Given the description of an element on the screen output the (x, y) to click on. 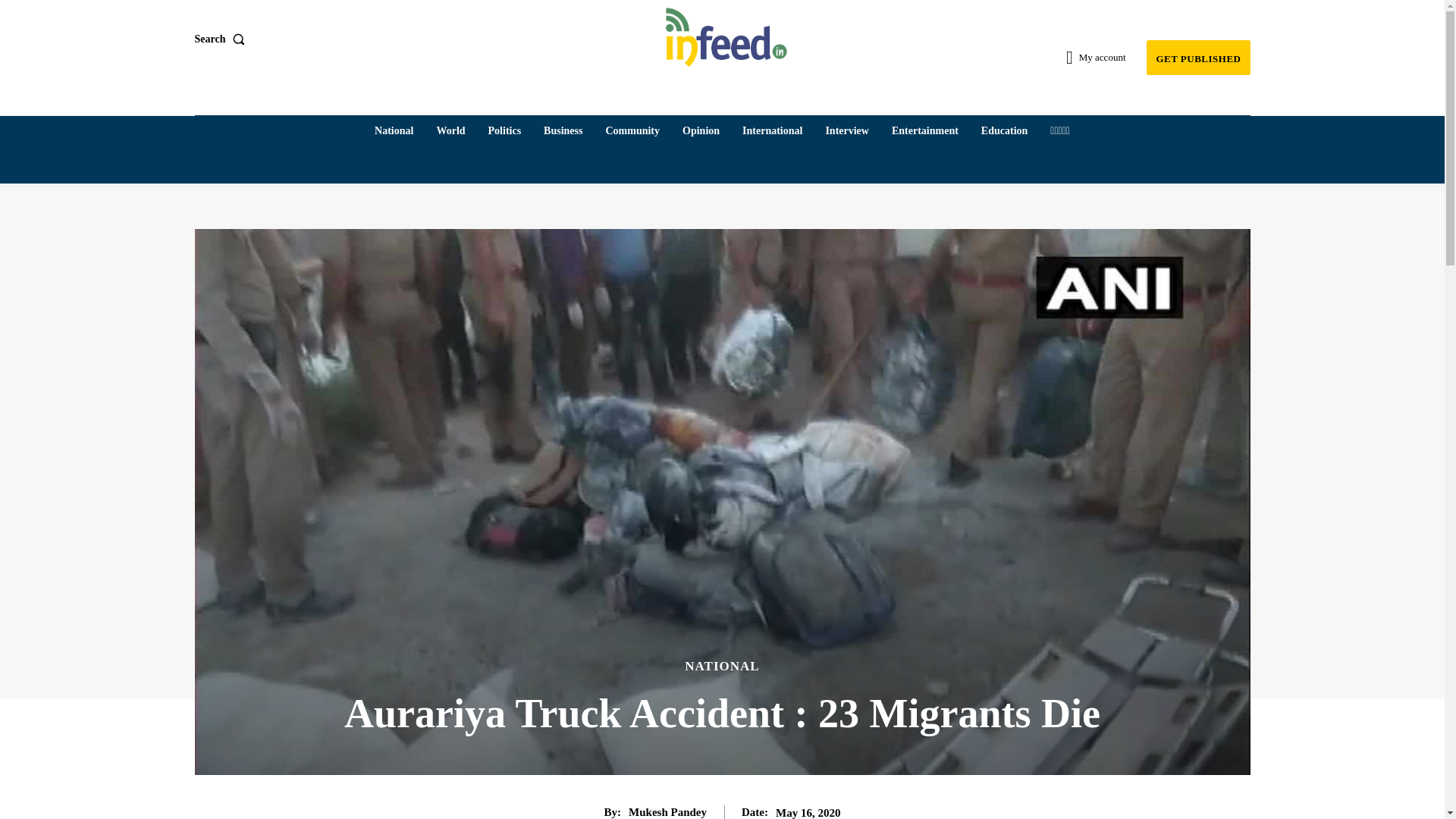
Search (221, 39)
National (393, 131)
Business (562, 131)
Interview (846, 131)
Politics (504, 131)
GET PUBLISHED (1198, 58)
Community (631, 131)
International (772, 131)
World (449, 131)
Opinion (700, 131)
